Given the description of an element on the screen output the (x, y) to click on. 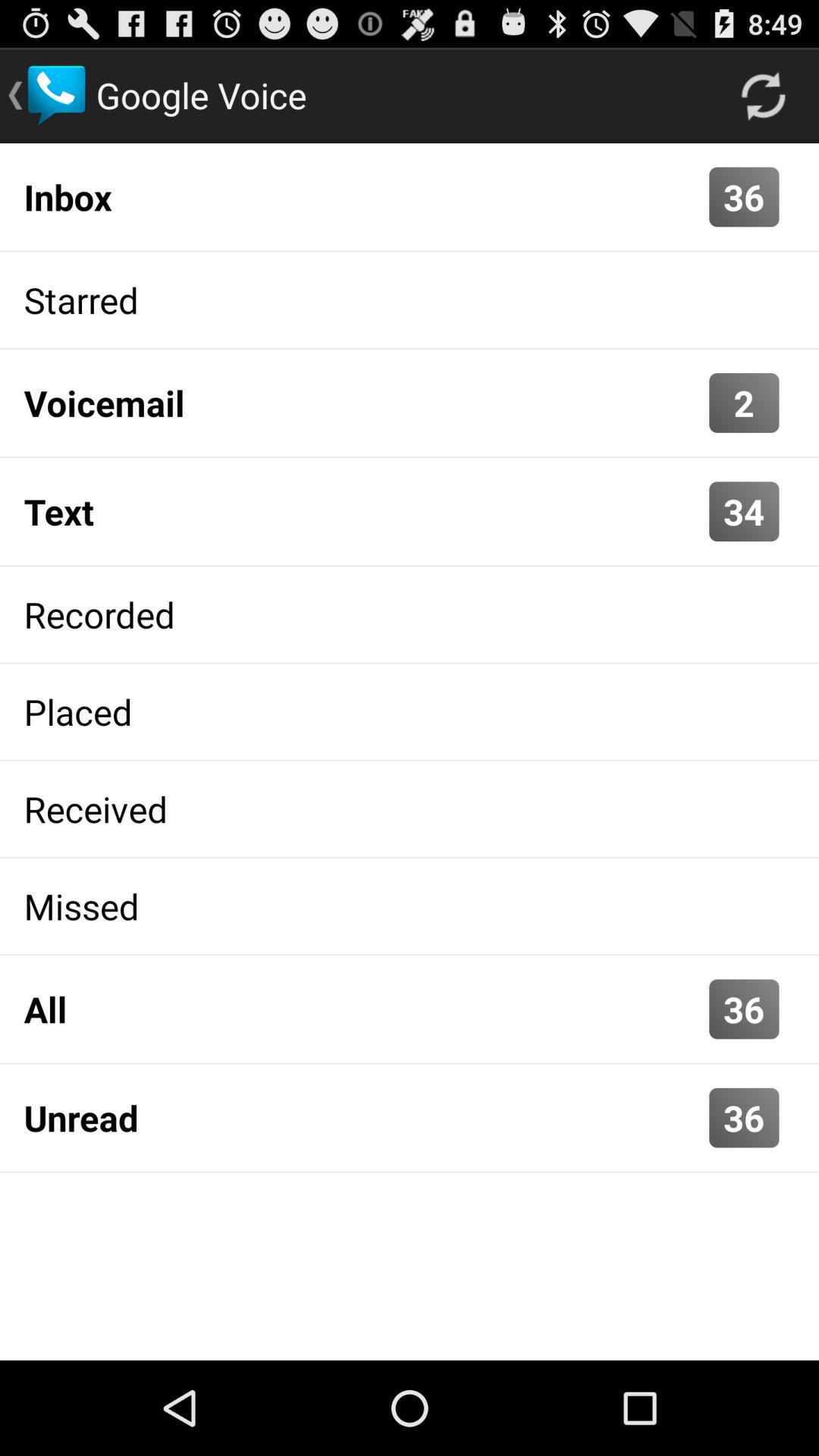
launch the app above the starred (362, 196)
